Given the description of an element on the screen output the (x, y) to click on. 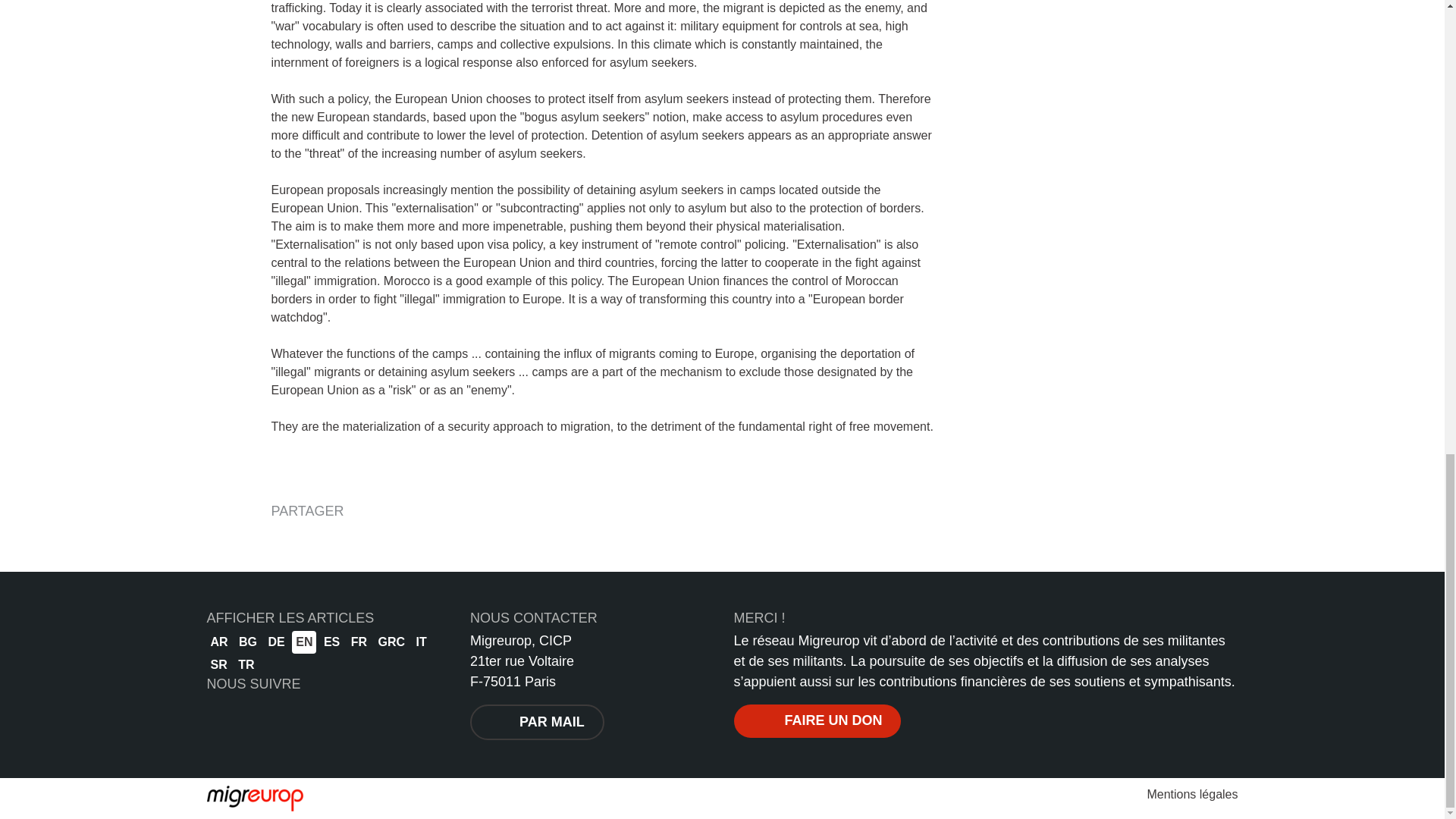
Facebook (219, 715)
Partager sur Twitter (320, 539)
TR (245, 664)
Instagram (327, 715)
SR (218, 664)
Partager sur Facebook (284, 539)
Liste de diffusion (291, 715)
Twitter (256, 715)
Accueil (255, 798)
FR (359, 641)
FAIRE UN DON (817, 720)
DE (276, 641)
ES (331, 641)
Liste de diffusion (291, 715)
